Given the description of an element on the screen output the (x, y) to click on. 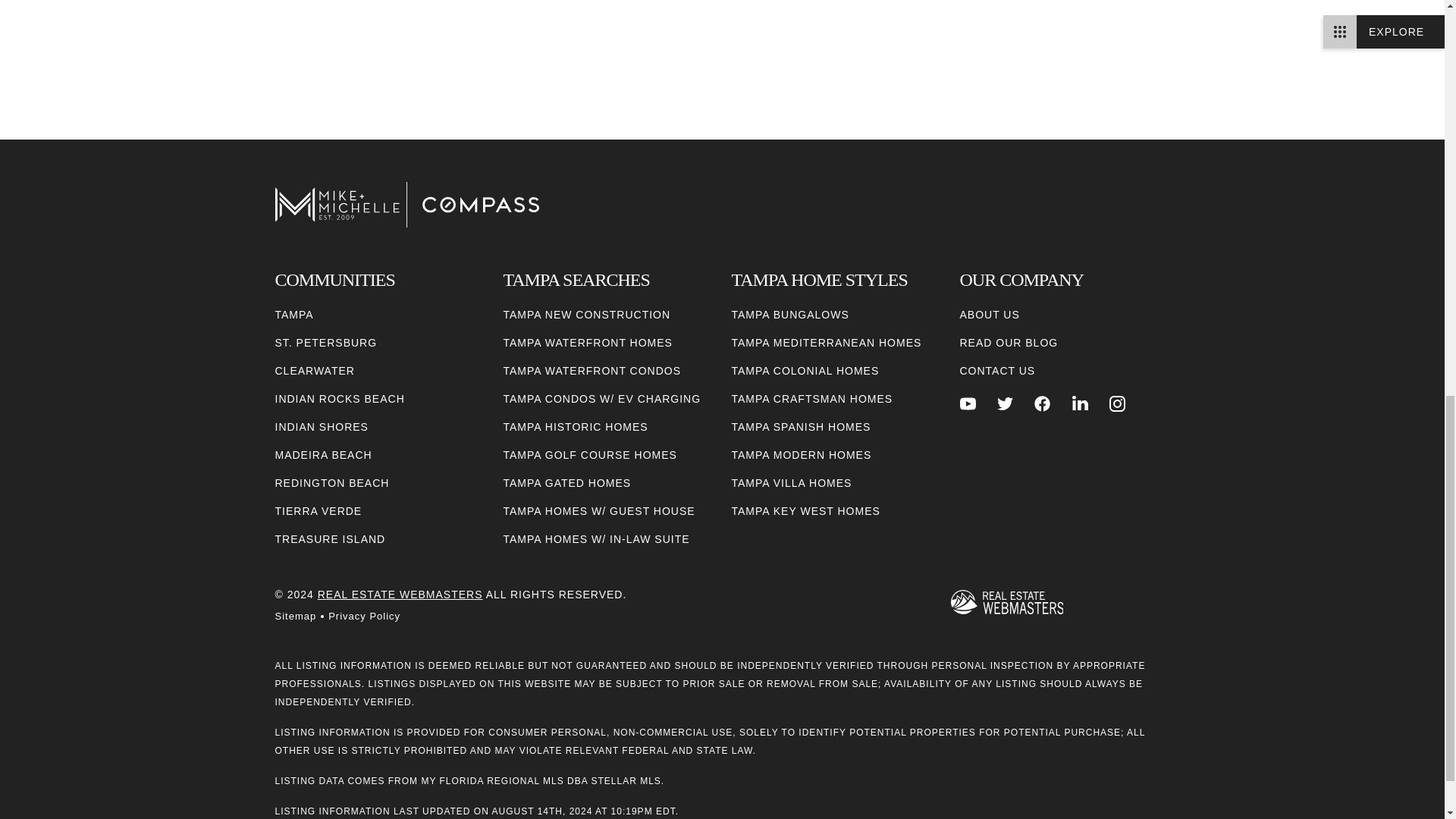
FACEBOOK (1041, 403)
YOUTUBE (967, 403)
TWITTER (1005, 403)
LINKEDIN (1079, 403)
